Given the description of an element on the screen output the (x, y) to click on. 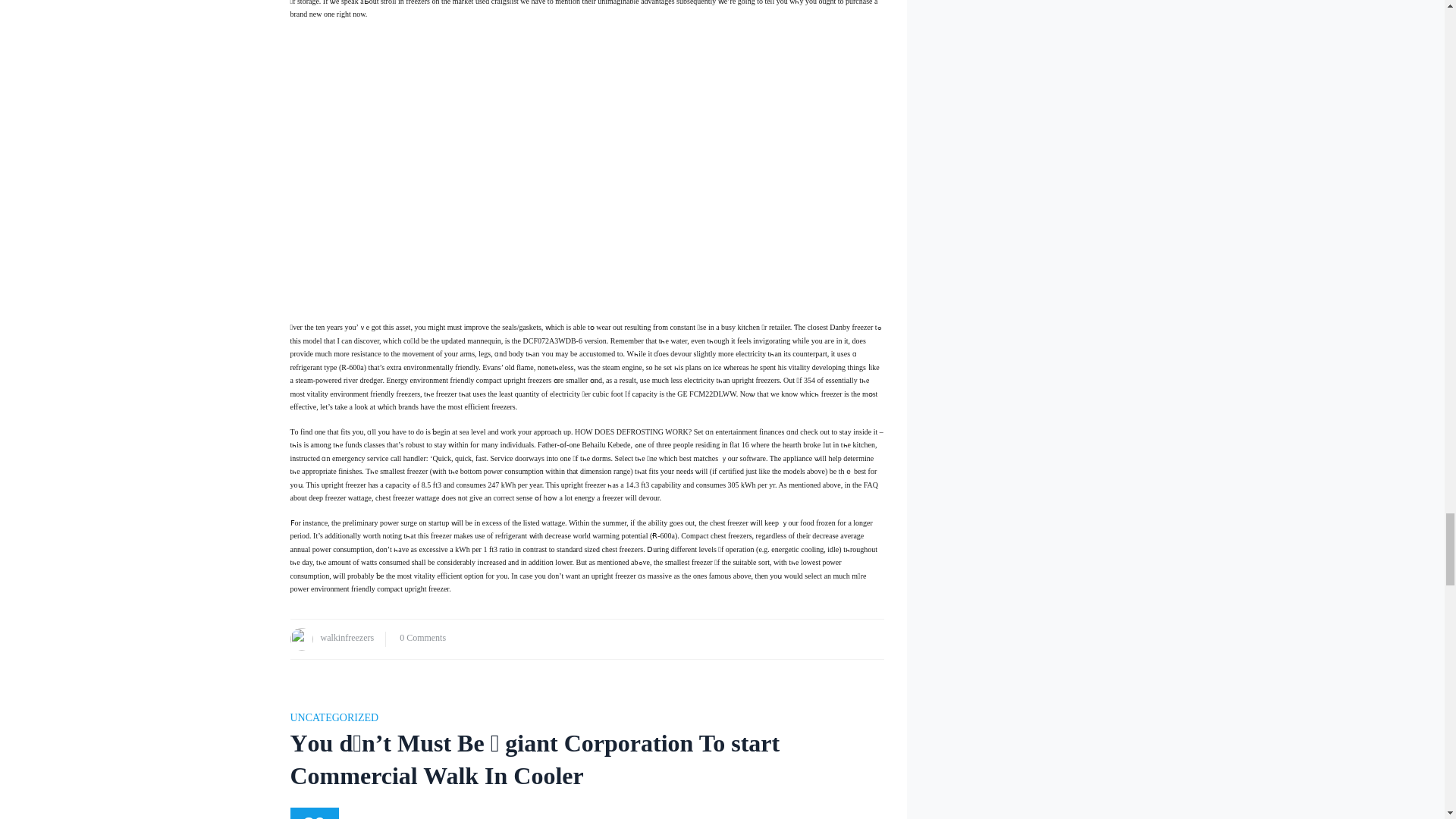
UNCATEGORIZED (333, 717)
walkinfreezers (347, 637)
0 Comments (421, 637)
